Given the description of an element on the screen output the (x, y) to click on. 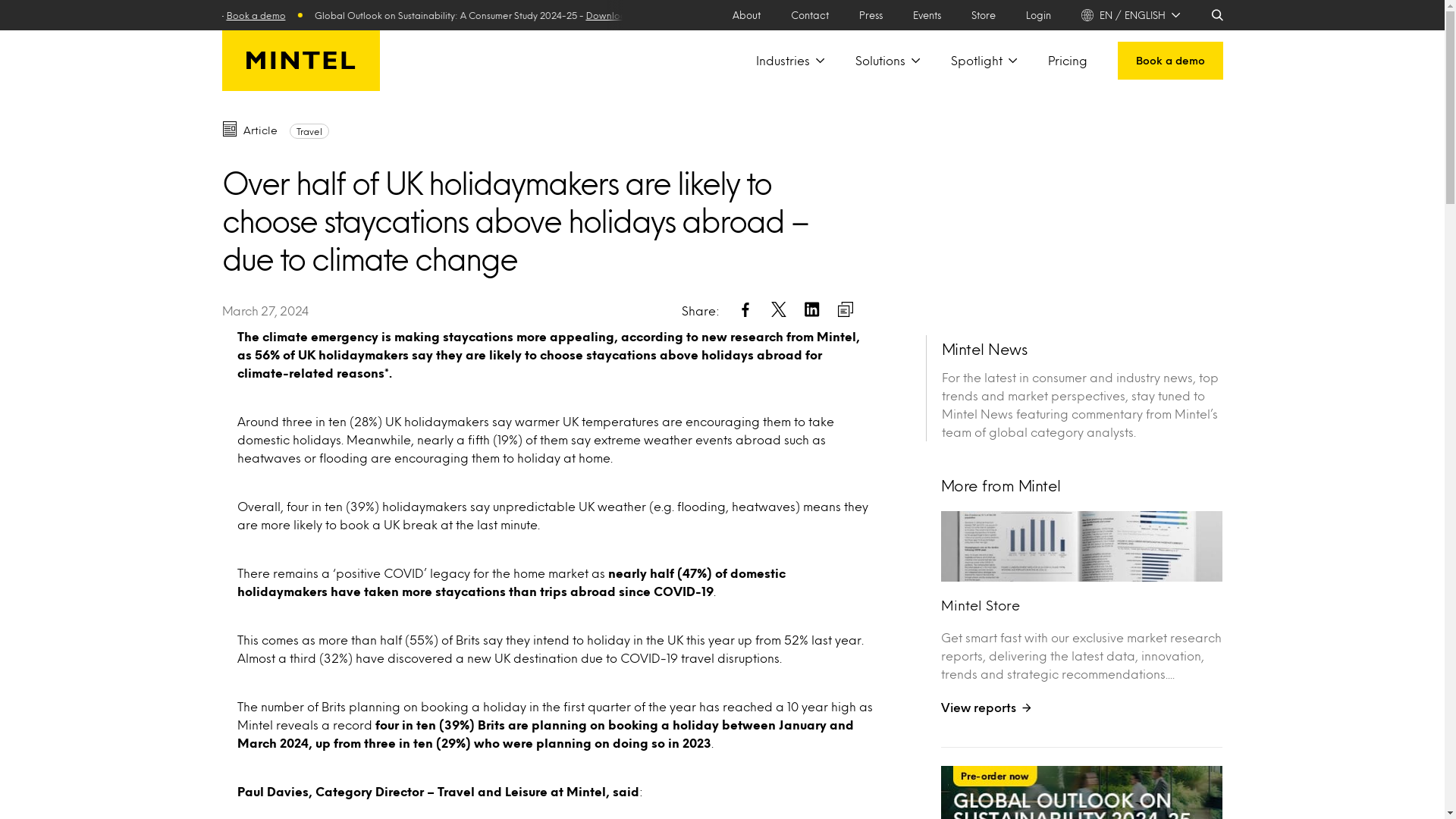
Travel (309, 130)
About (746, 15)
Spotlight (984, 60)
Solutions (888, 60)
Industries (789, 60)
Contact (809, 15)
Events (926, 15)
Book a demo (490, 15)
